Given the description of an element on the screen output the (x, y) to click on. 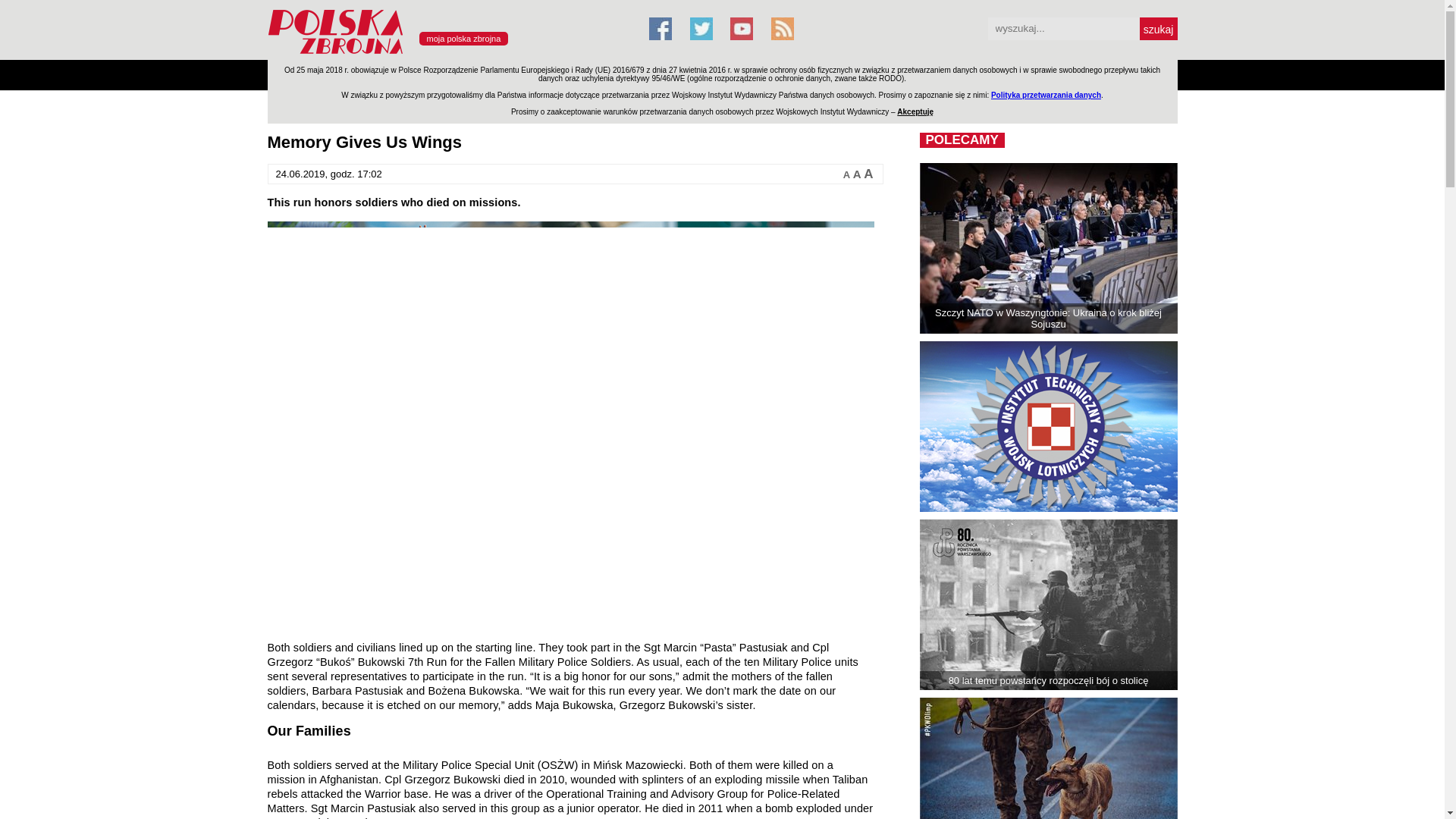
Prawo (522, 74)
Historia (730, 74)
Twitter (701, 28)
Polityka przetwarzania danych (1045, 94)
Facebook (660, 28)
Youtube (741, 28)
szukaj (1157, 28)
moja polska zbrojna (463, 38)
szukaj (1157, 28)
Polska Zbrojna (448, 53)
Sport (684, 74)
Misje (426, 74)
Galerie (781, 74)
Poligon (334, 74)
Wideo (829, 74)
